Given the description of an element on the screen output the (x, y) to click on. 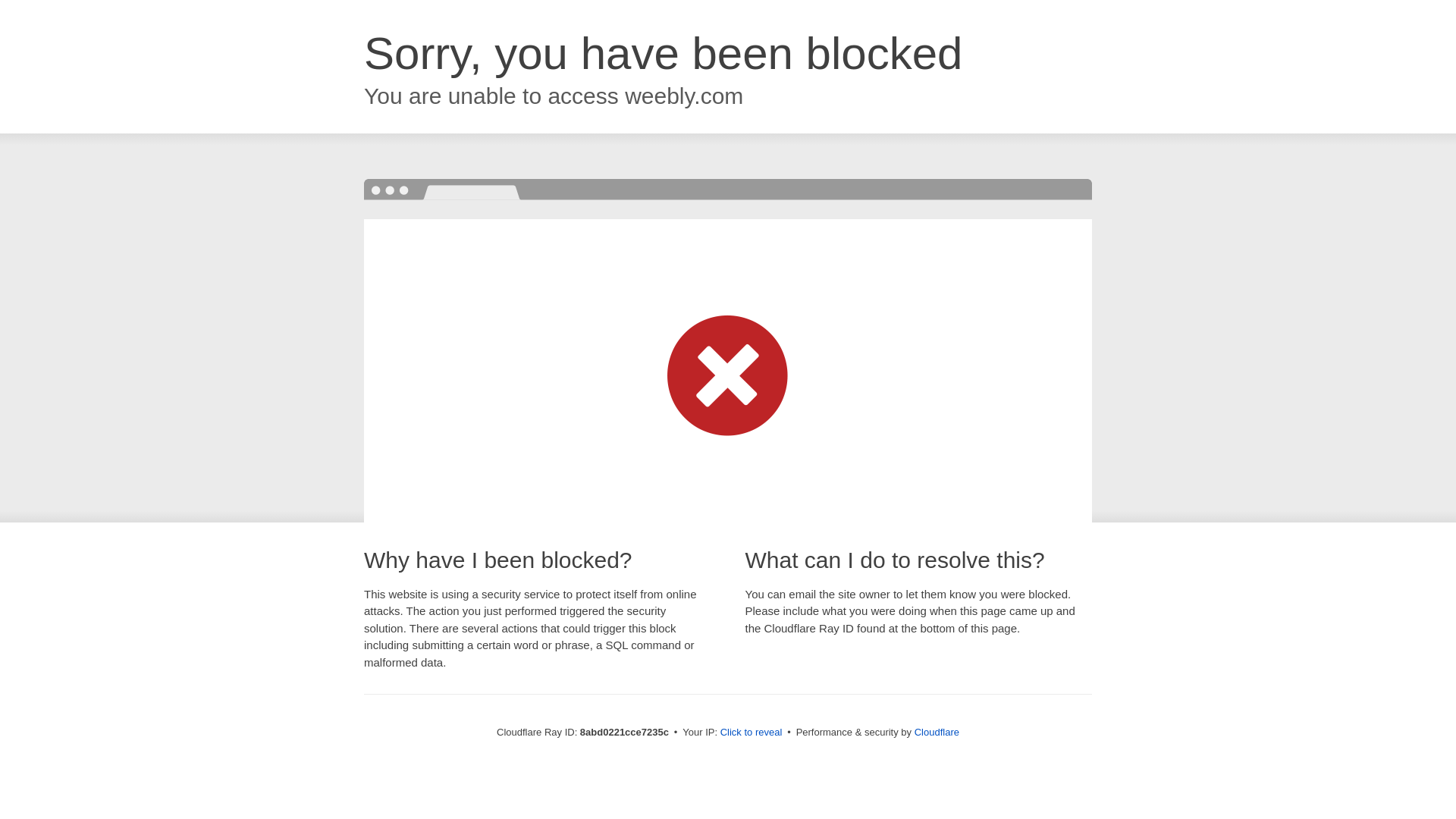
Cloudflare (936, 731)
Click to reveal (751, 732)
